Given the description of an element on the screen output the (x, y) to click on. 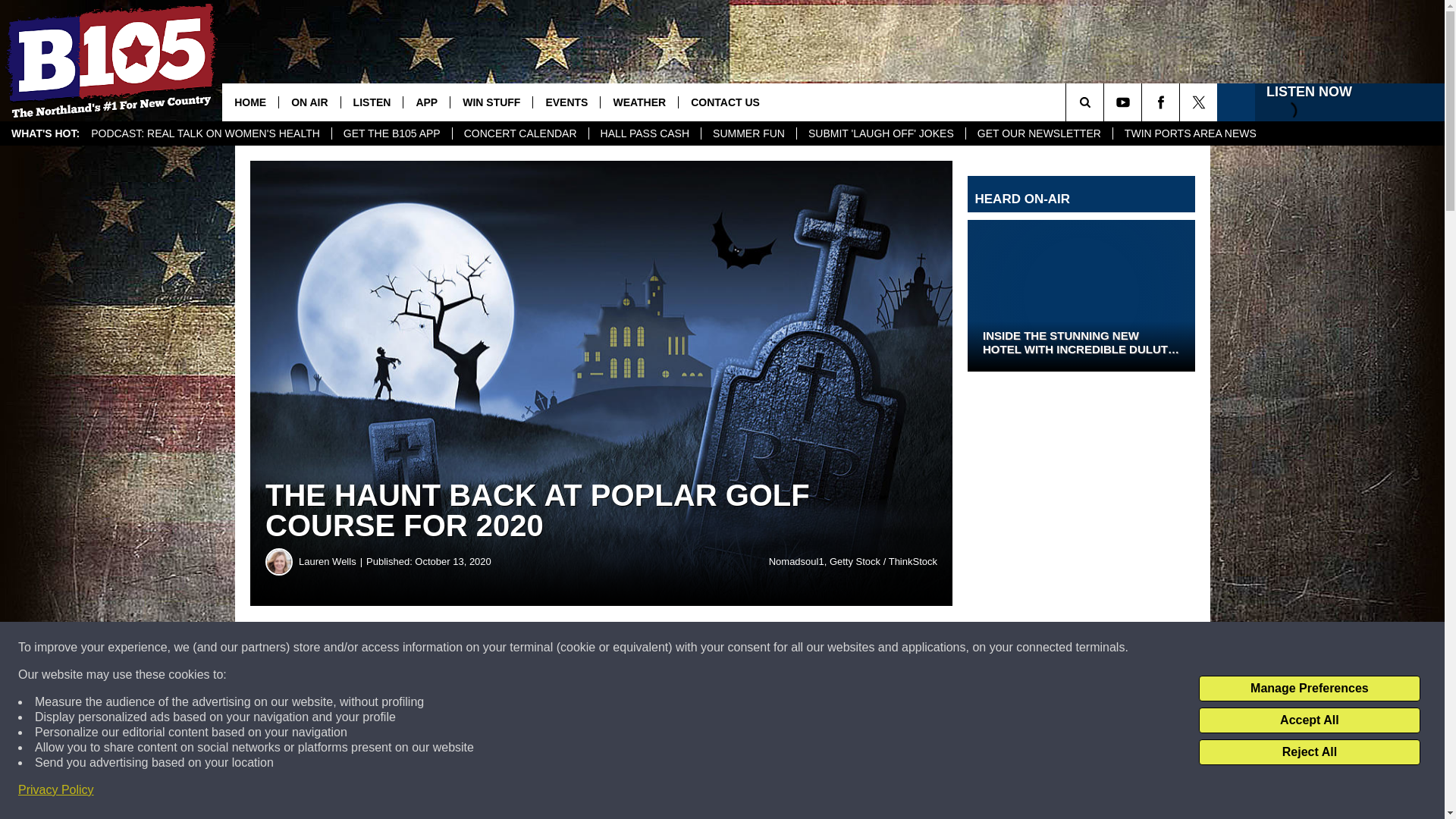
ON AIR (308, 102)
TWIN PORTS AREA NEWS (1190, 133)
SEARCH (1106, 102)
GET OUR NEWSLETTER (1038, 133)
APP (426, 102)
Manage Preferences (1309, 688)
HOME (250, 102)
SUMMER FUN (748, 133)
LISTEN (371, 102)
Share on Twitter (741, 647)
